Given the description of an element on the screen output the (x, y) to click on. 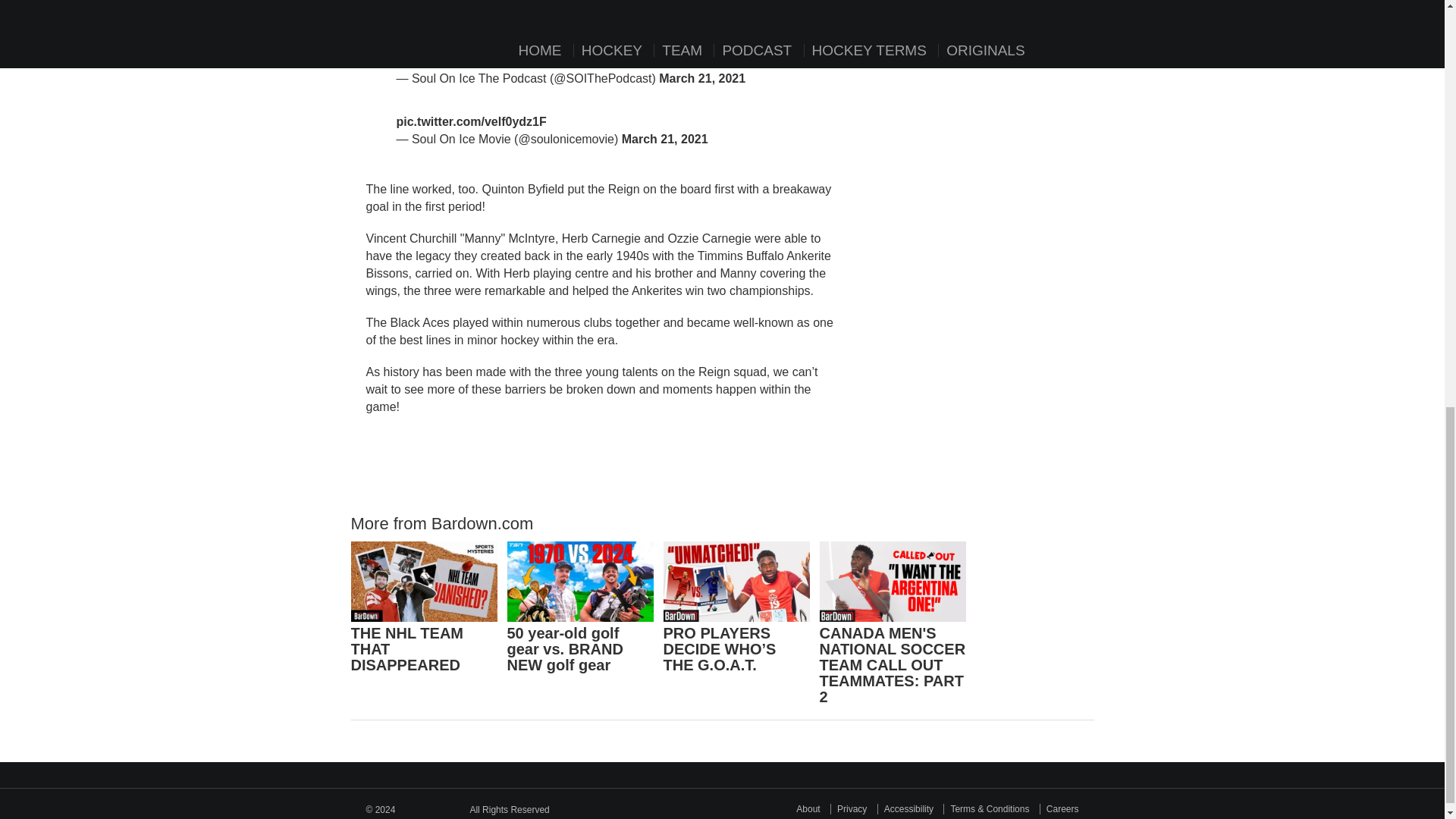
Bell Media (431, 805)
